Given the description of an element on the screen output the (x, y) to click on. 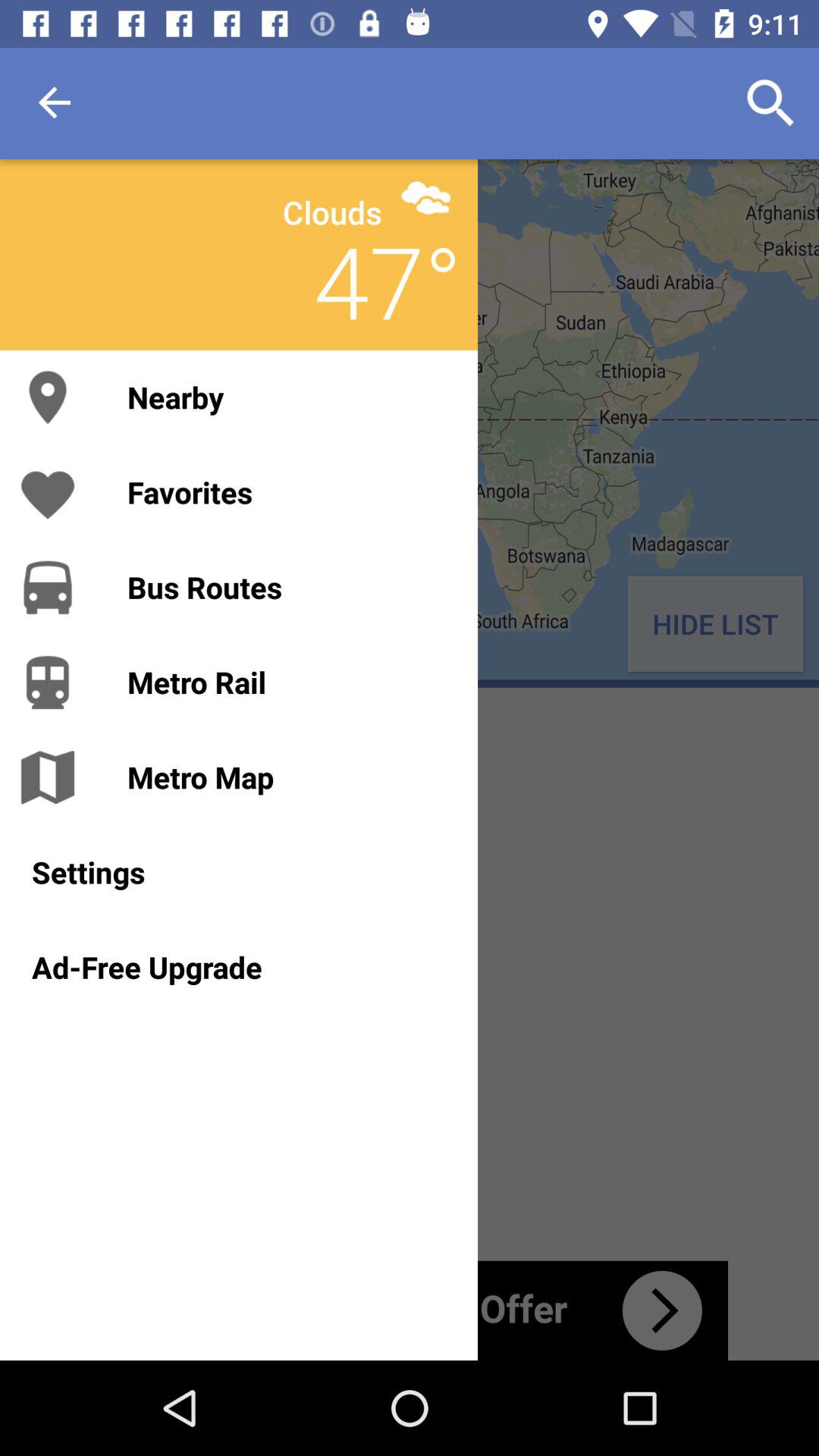
open the clouds (332, 211)
